Given the description of an element on the screen output the (x, y) to click on. 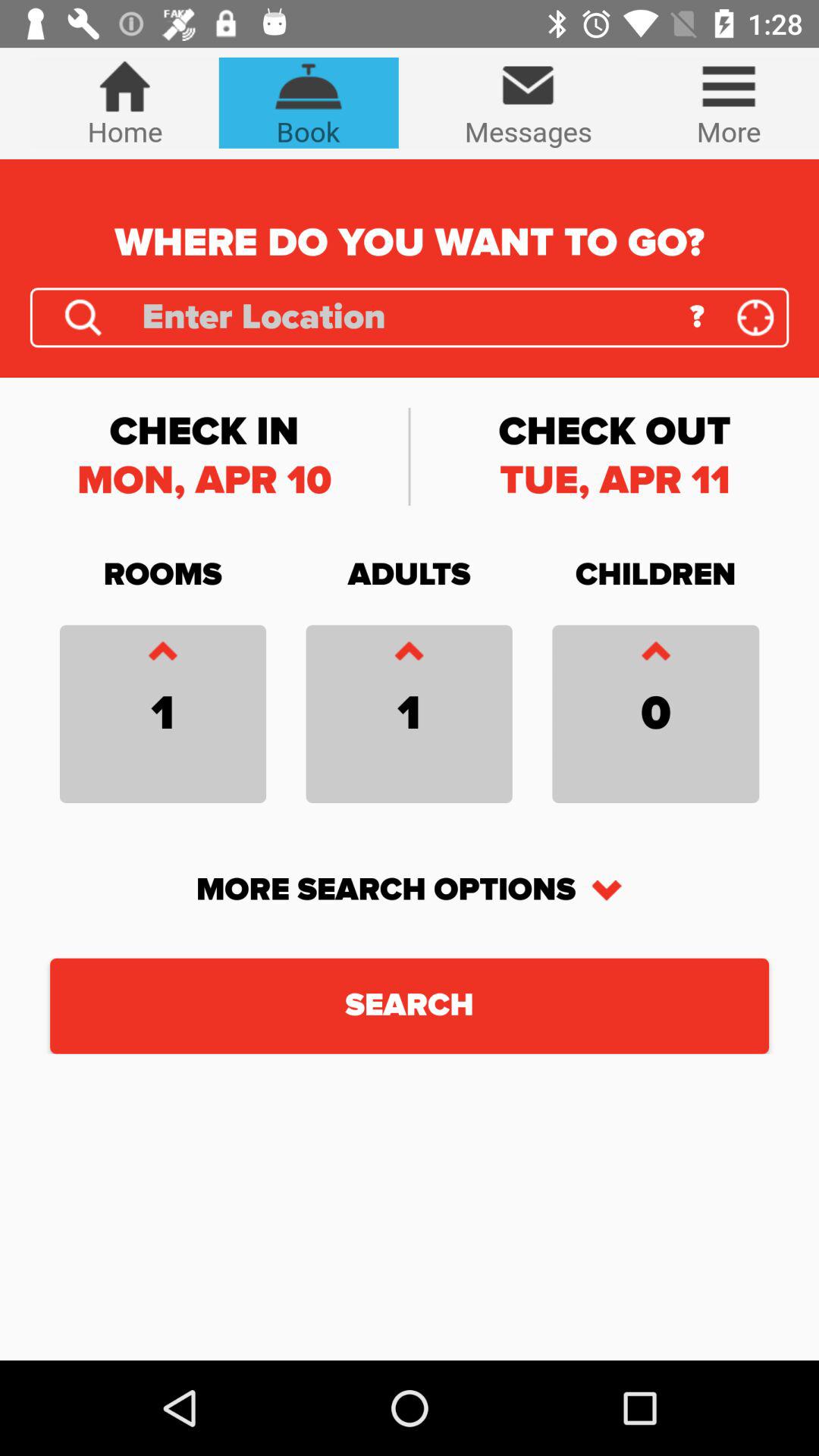
tap icon above the check out icon (696, 317)
